Given the description of an element on the screen output the (x, y) to click on. 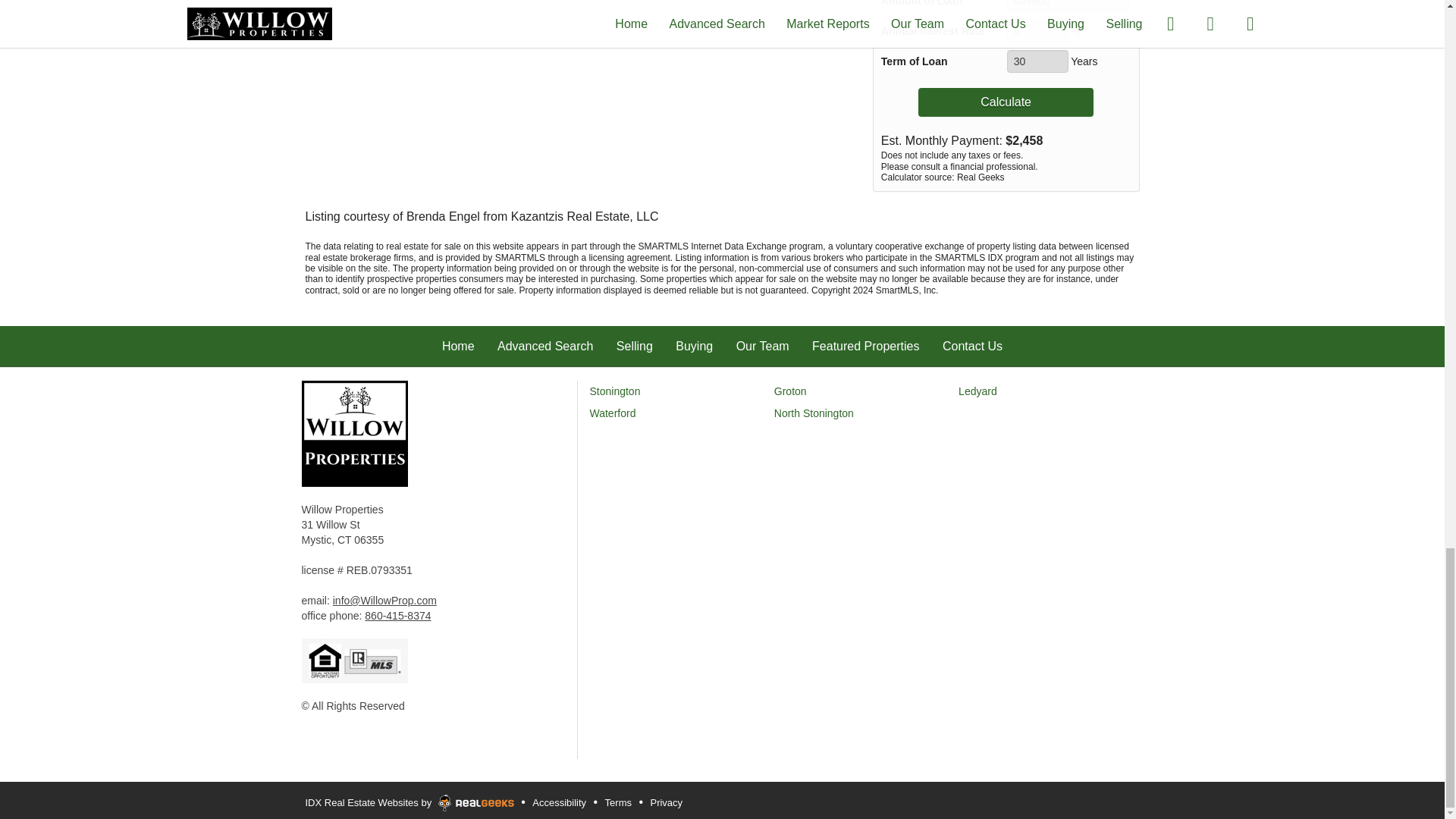
30 (1037, 60)
Willow Info Email (384, 600)
409900 (1068, 6)
6 (1037, 30)
